Given the description of an element on the screen output the (x, y) to click on. 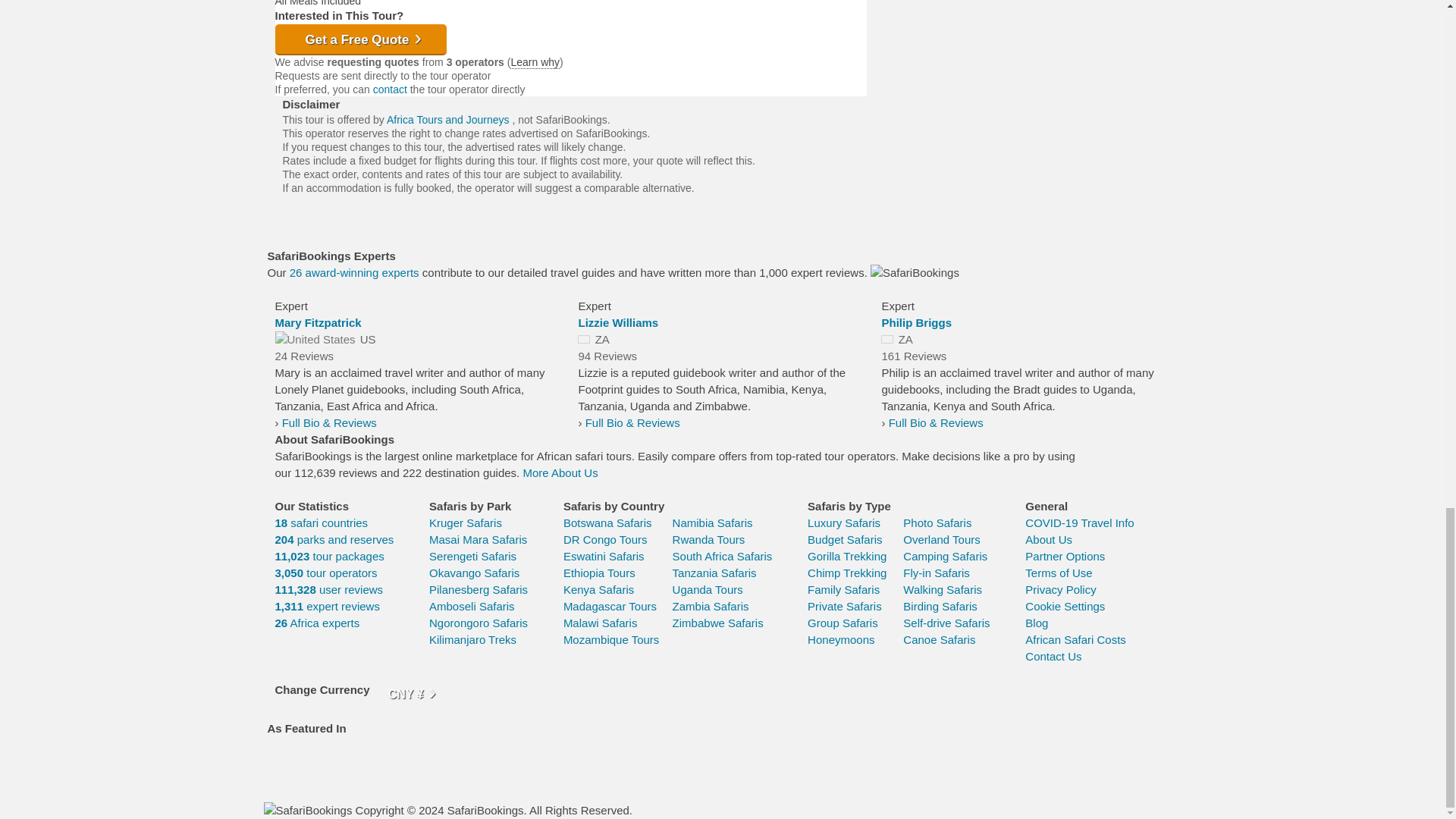
South Africa (886, 338)
South Africa (583, 338)
Africa Tours and Journeys (449, 119)
